Given the description of an element on the screen output the (x, y) to click on. 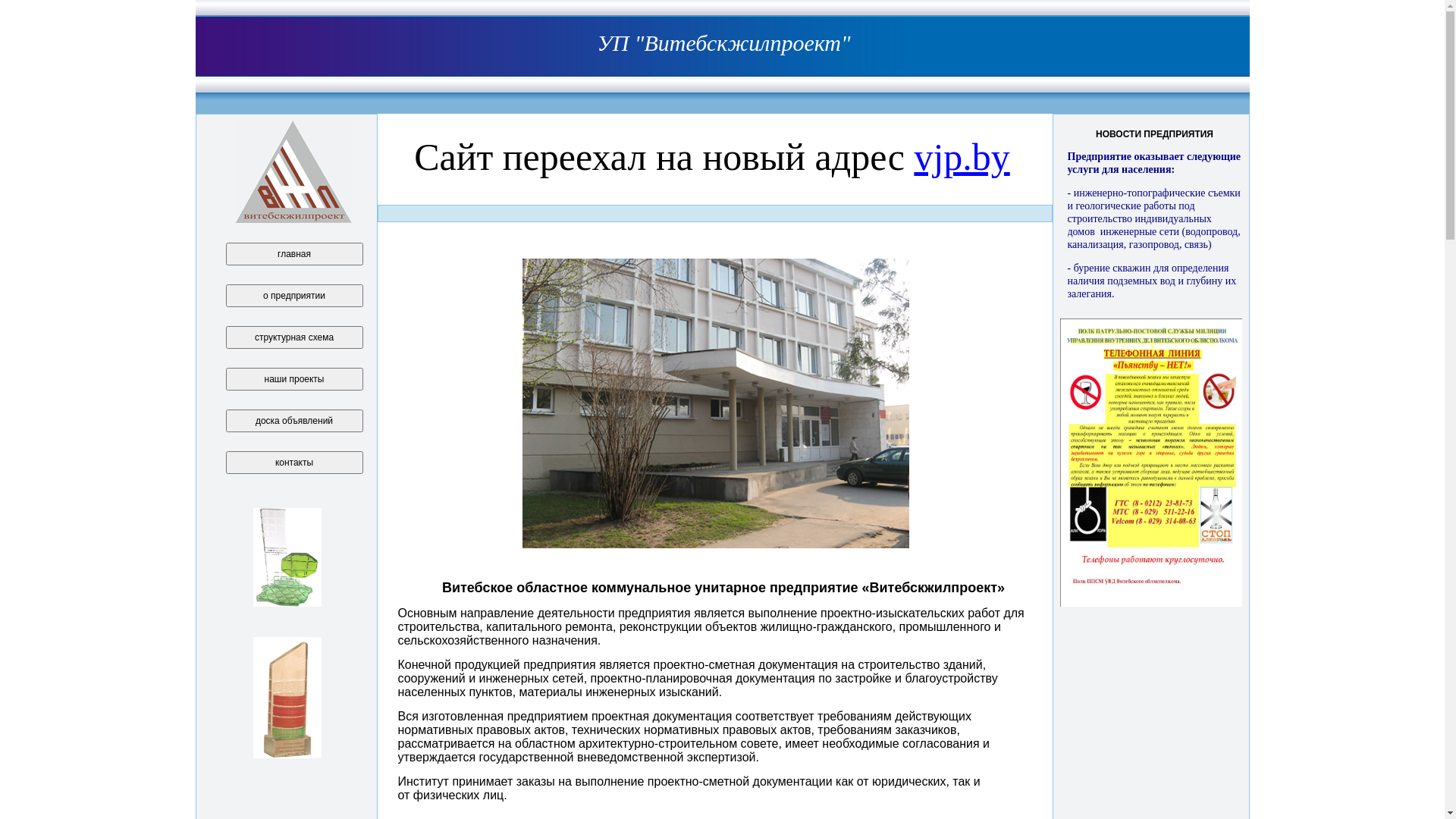
vjp.by Element type: text (961, 156)
